Given the description of an element on the screen output the (x, y) to click on. 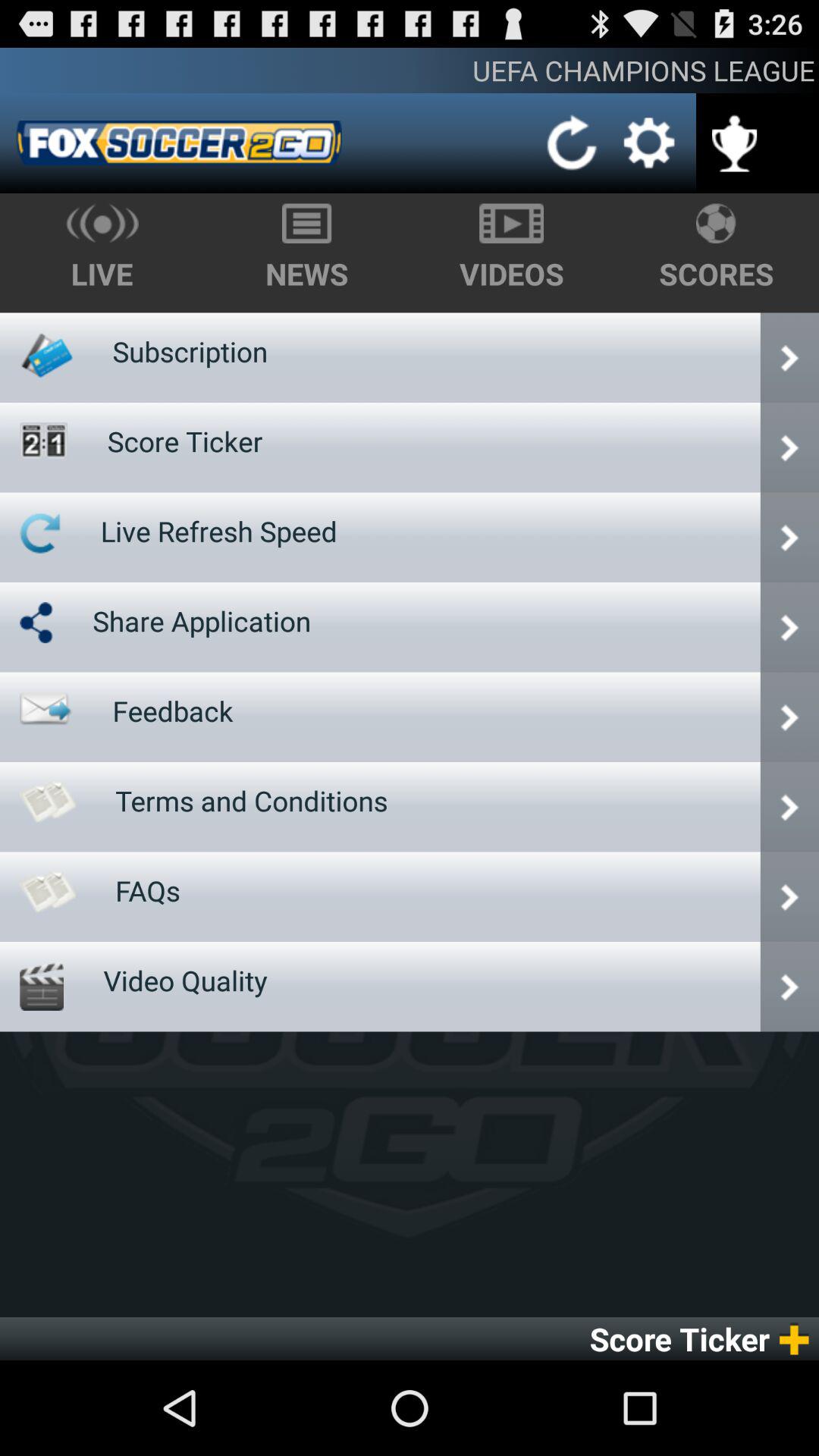
flip until the video quality app (185, 980)
